Given the description of an element on the screen output the (x, y) to click on. 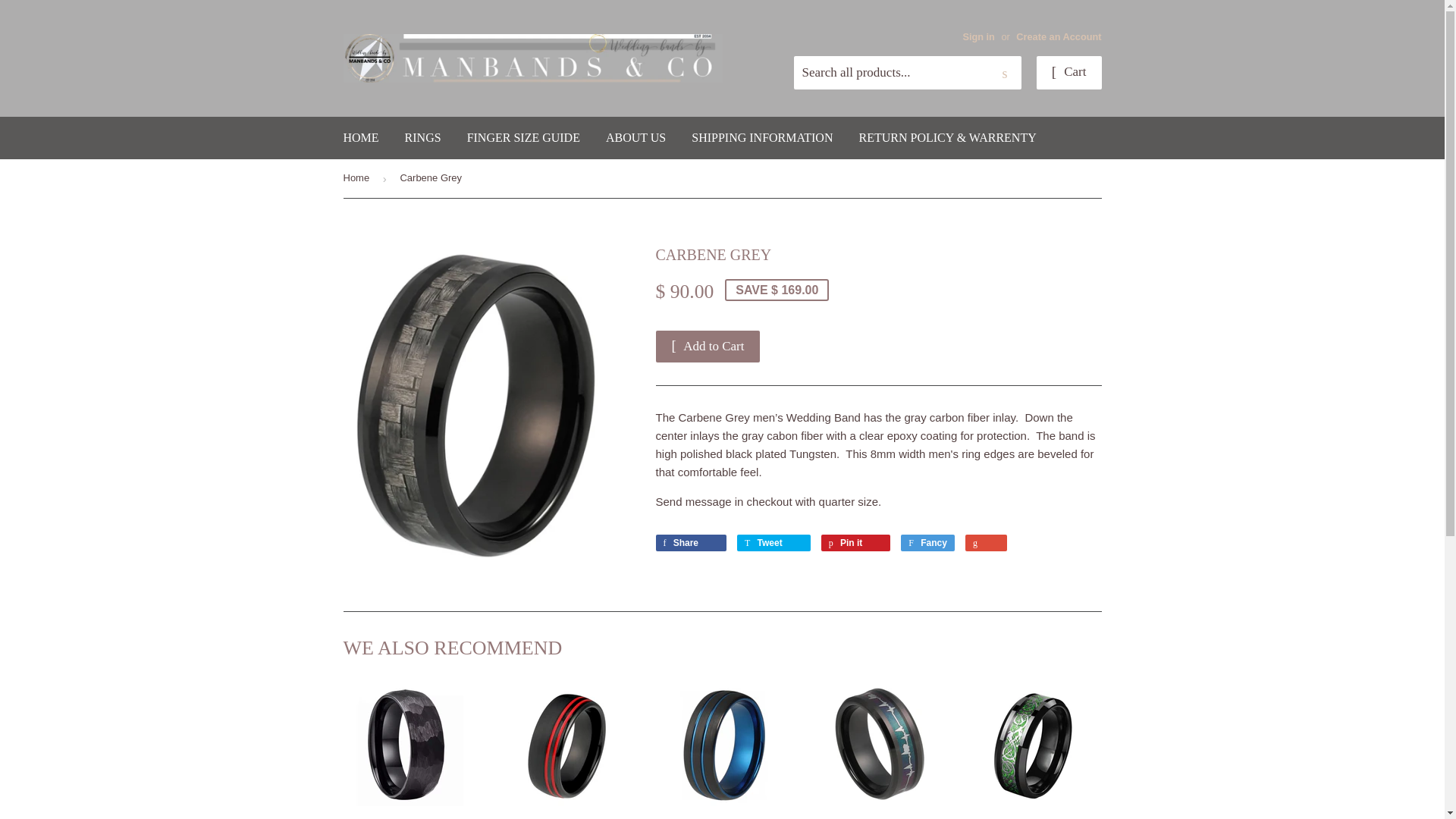
Tweet (773, 542)
SHIPPING INFORMATION (761, 137)
Cart (1069, 72)
Search (1004, 73)
FINGER SIZE GUIDE (523, 137)
Sign in (978, 36)
Share (690, 542)
RINGS (422, 137)
ABOUT US (635, 137)
Add to Cart (707, 346)
Fancy (928, 542)
Create an Account (1058, 36)
HOME (360, 137)
Pin it (855, 542)
